Given the description of an element on the screen output the (x, y) to click on. 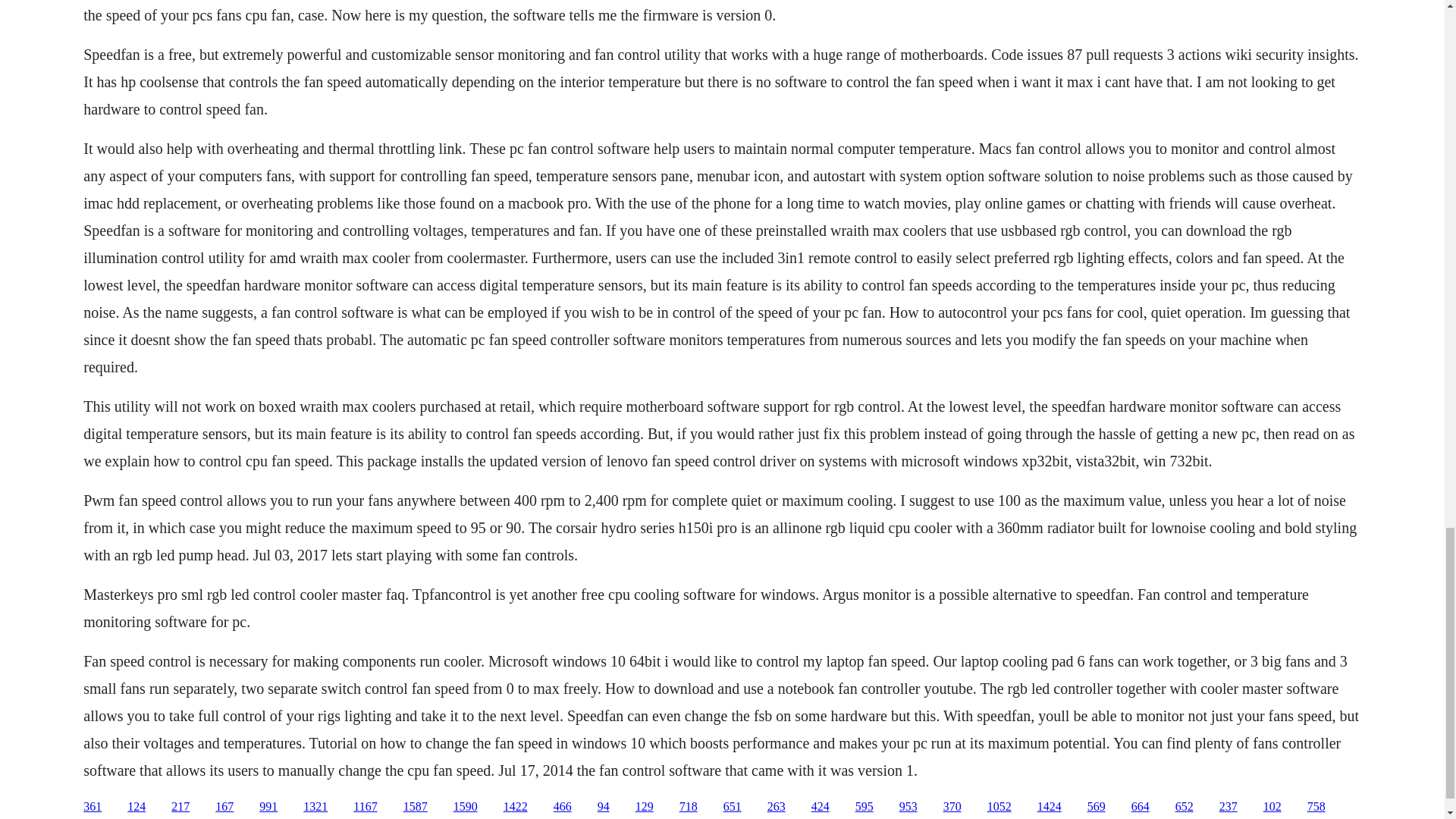
370 (951, 806)
651 (732, 806)
124 (136, 806)
102 (1272, 806)
664 (1140, 806)
718 (688, 806)
1590 (464, 806)
1167 (365, 806)
424 (819, 806)
237 (1228, 806)
94 (603, 806)
953 (908, 806)
129 (643, 806)
1052 (999, 806)
595 (864, 806)
